Given the description of an element on the screen output the (x, y) to click on. 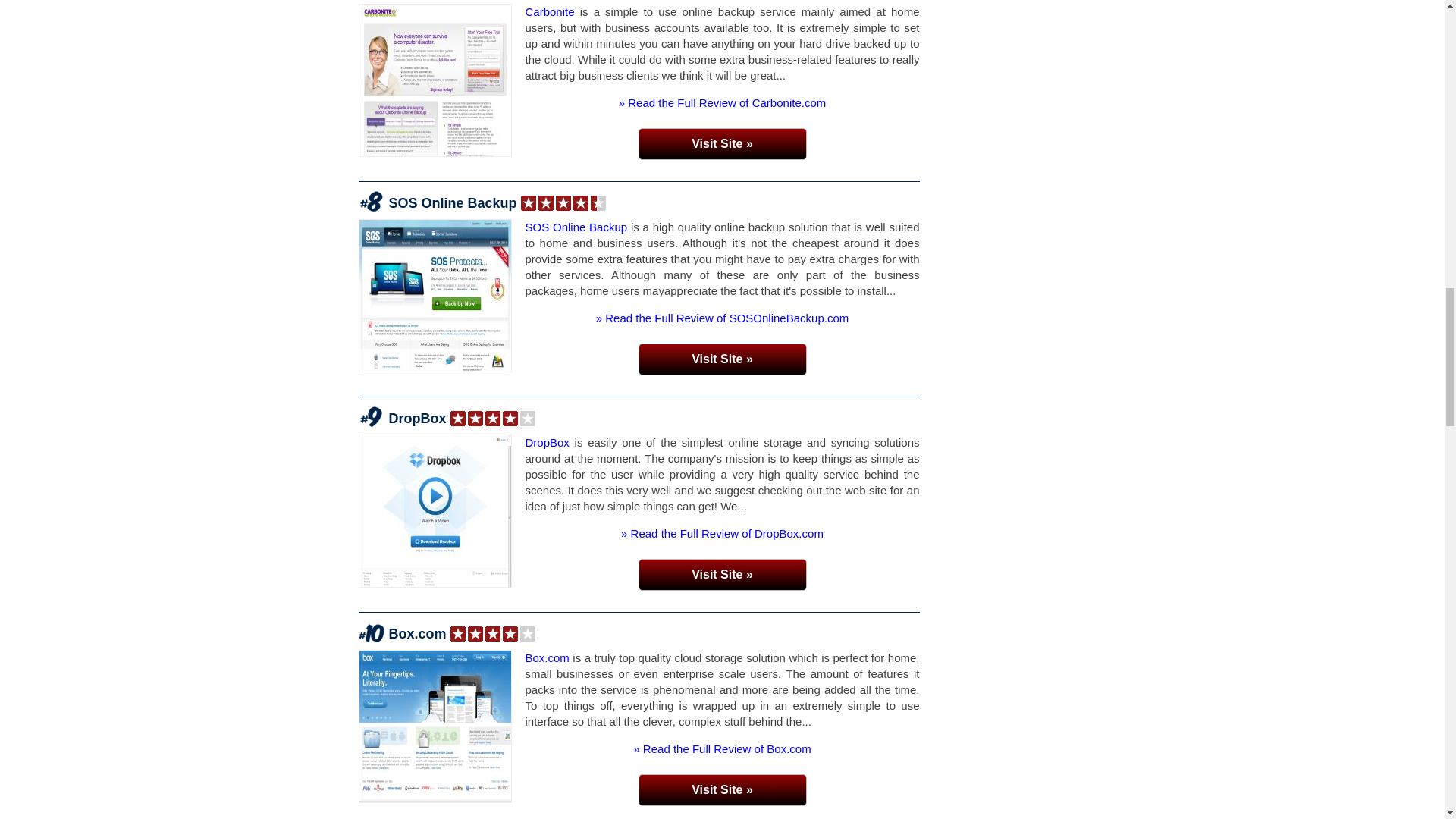
Visit DropBox.com (722, 574)
Visit SOSOnlineBackup.com (722, 359)
Visit Box.com (722, 789)
Visit Carbonite.com (722, 143)
